Given the description of an element on the screen output the (x, y) to click on. 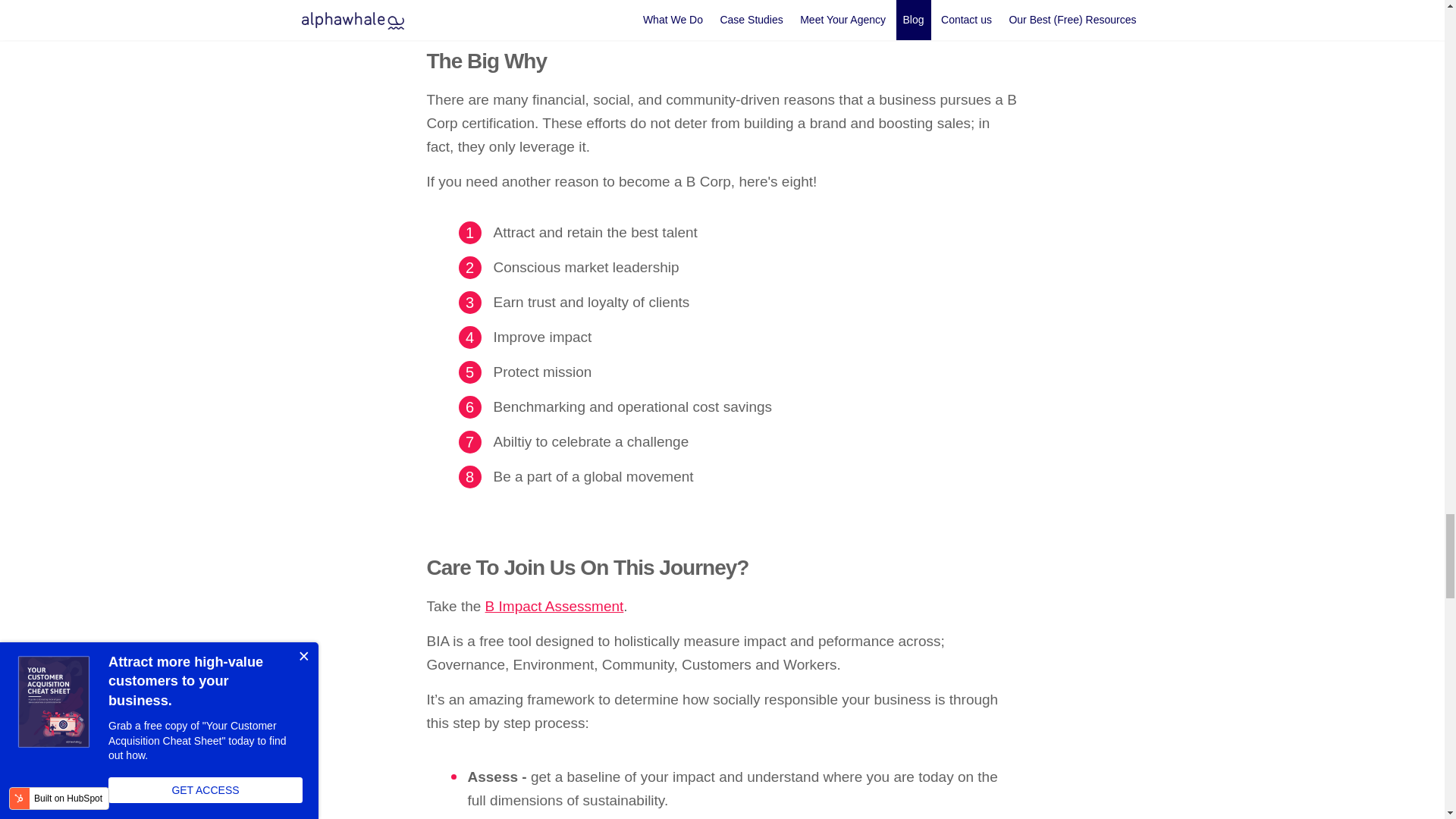
B Impact Assessment (554, 606)
